Given the description of an element on the screen output the (x, y) to click on. 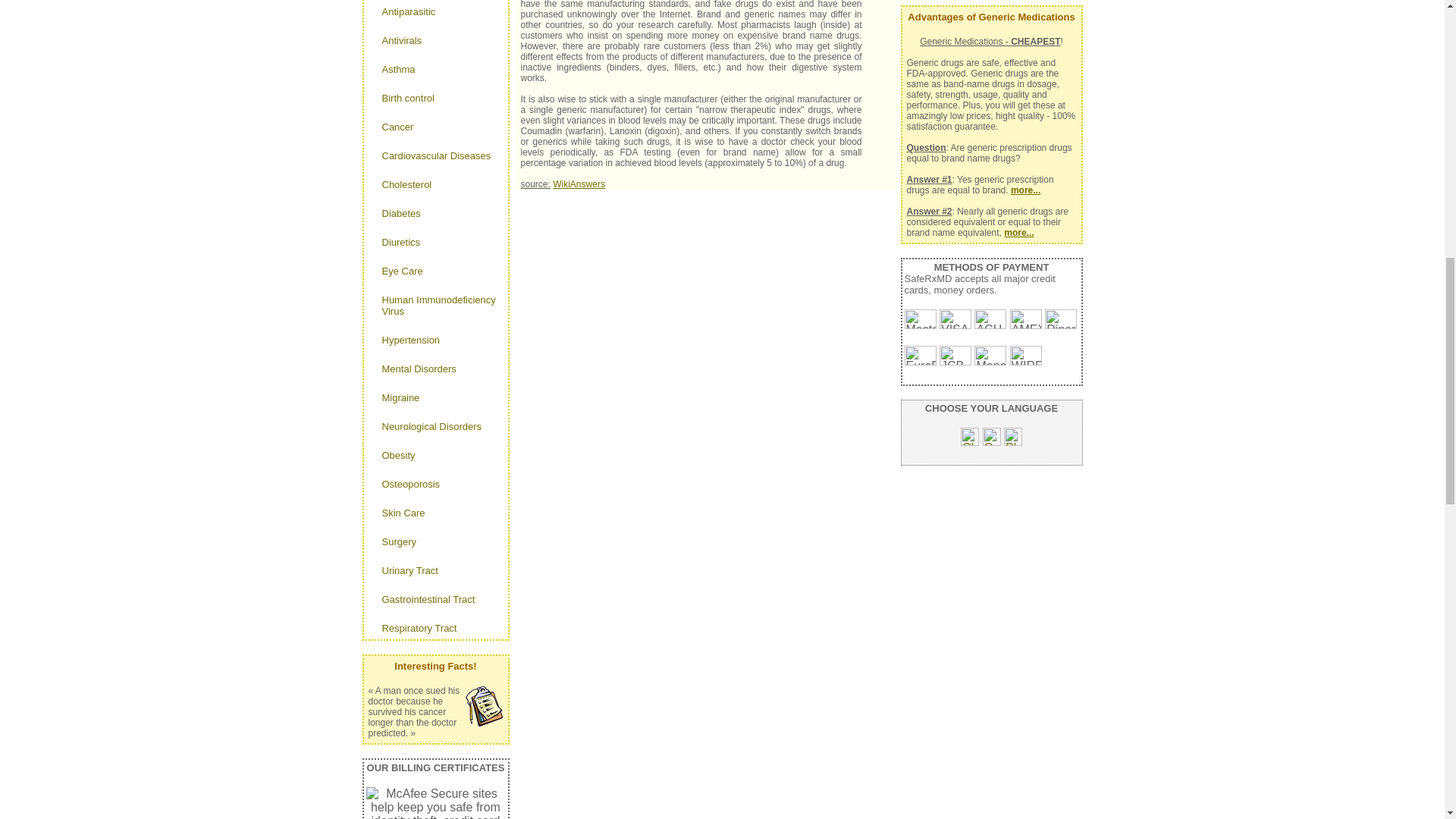
Antivirals (435, 40)
Diabetes (435, 213)
Birth control (435, 97)
Cholesterol (435, 184)
Antiparasitic (435, 11)
MasterCard (920, 319)
Asthma (435, 69)
Cardiovascular Diseases (435, 155)
Cancer (435, 126)
